Given the description of an element on the screen output the (x, y) to click on. 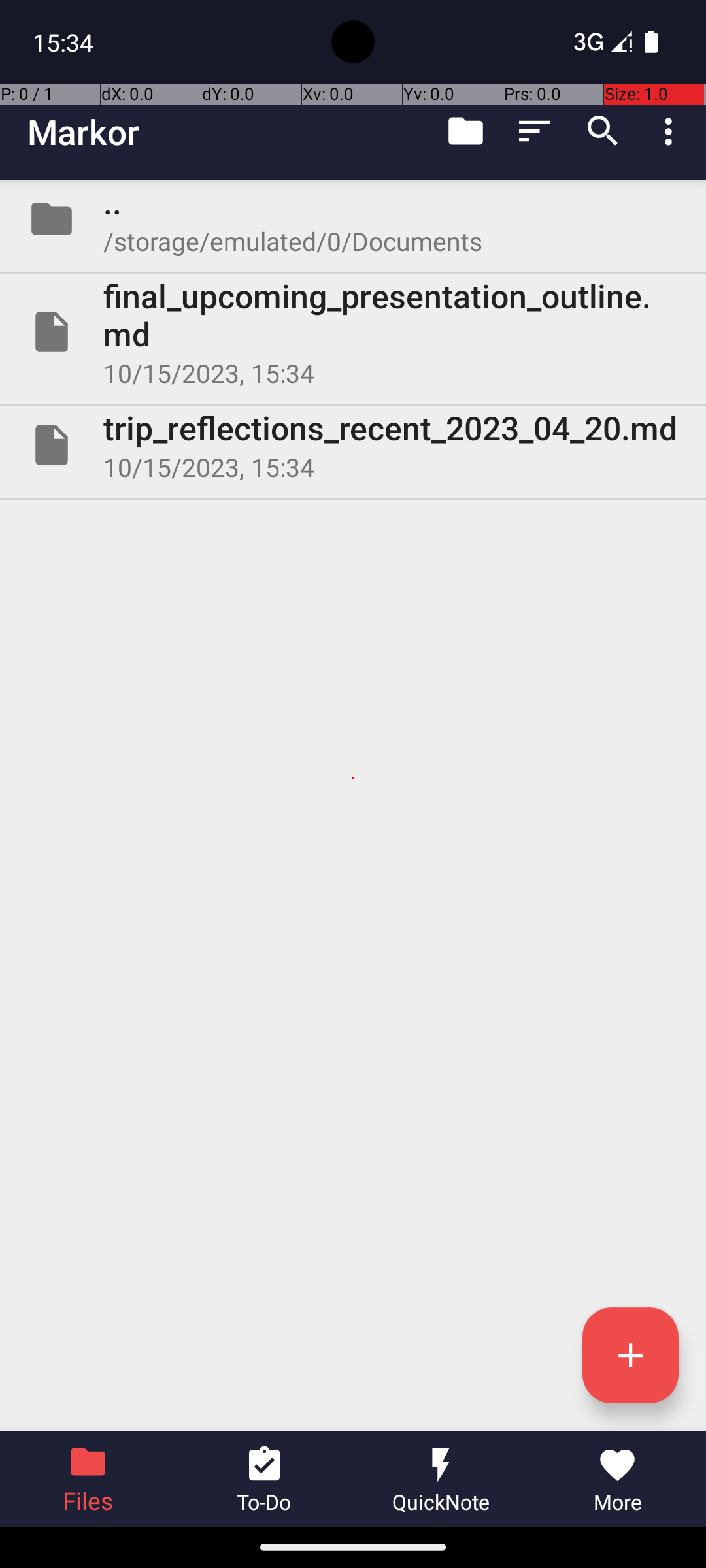
File final_upcoming_presentation_outline.md  Element type: android.widget.LinearLayout (353, 331)
File trip_reflections_recent_2023_04_20.md  Element type: android.widget.LinearLayout (353, 444)
